Given the description of an element on the screen output the (x, y) to click on. 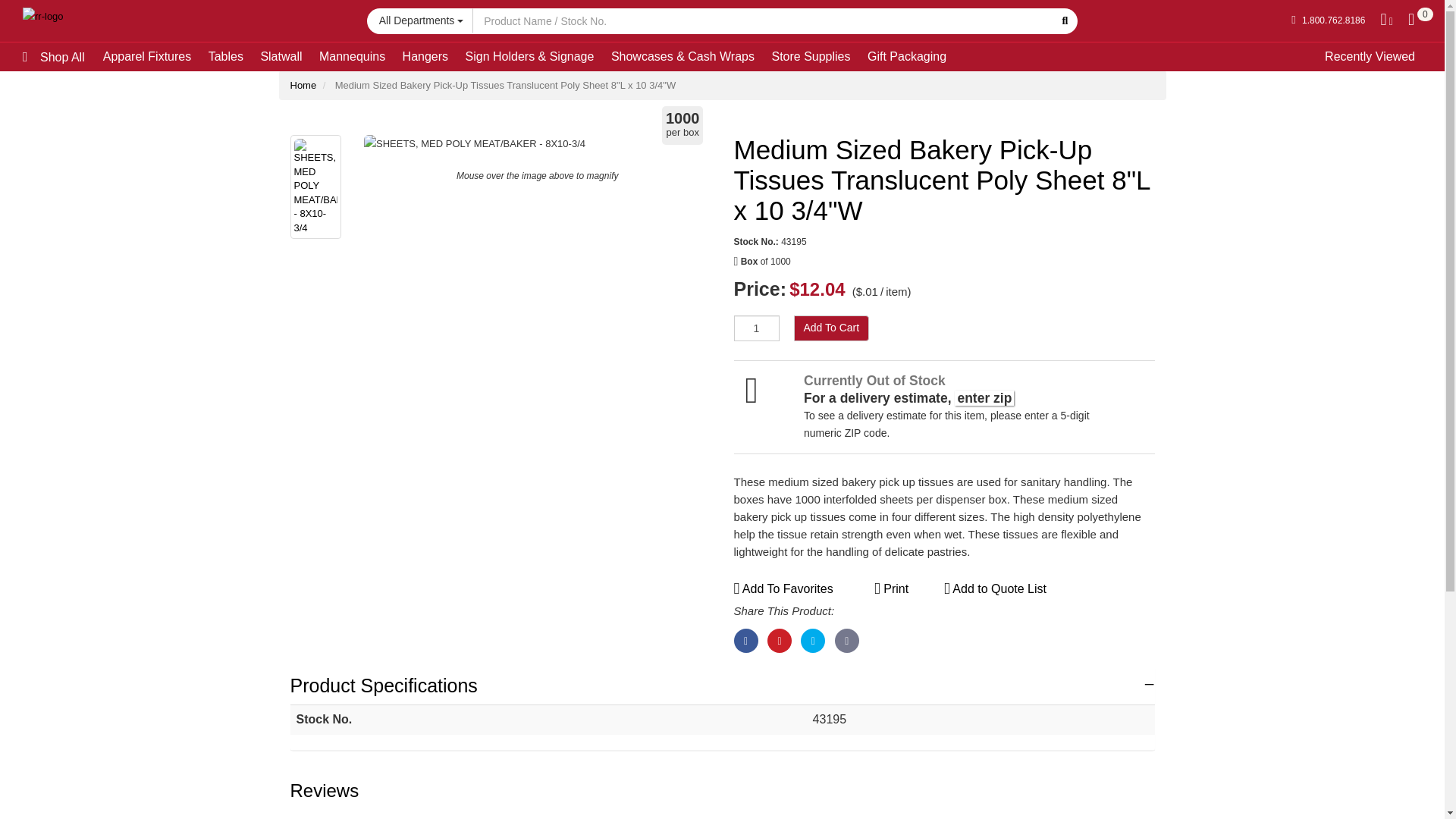
Add To Cart (831, 328)
Share on Pinterest (779, 640)
All Departments (419, 20)
Medium Sized Bakery Pick-Up Tissue (537, 143)
Add to Quote List (994, 588)
Share on Facebook (745, 640)
Share on Twitter (812, 640)
1 (755, 328)
